Given the description of an element on the screen output the (x, y) to click on. 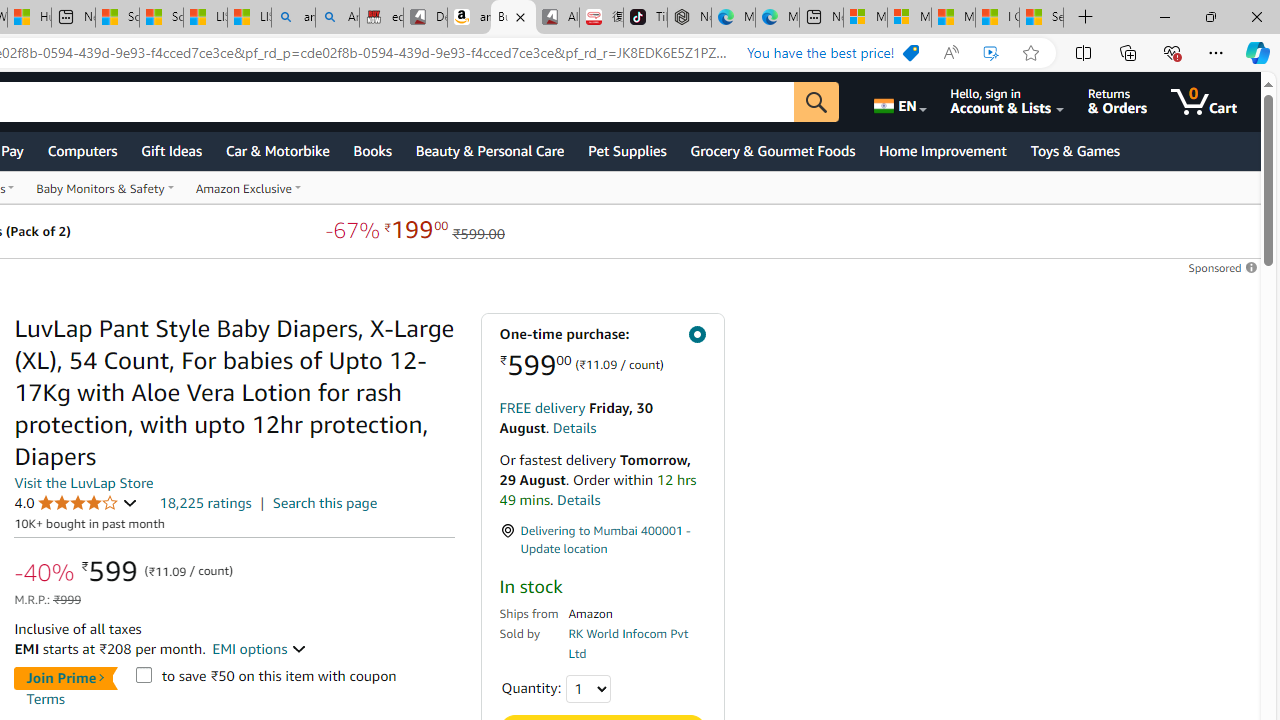
Car & Motorbike (276, 150)
RK World Infocom Pvt Ltd (628, 642)
0 items in cart (1203, 101)
Quantity: (588, 688)
FREE delivery (542, 407)
Hello, sign in Account & Lists (1006, 101)
4.0 4.0 out of 5 stars (76, 502)
